Given the description of an element on the screen output the (x, y) to click on. 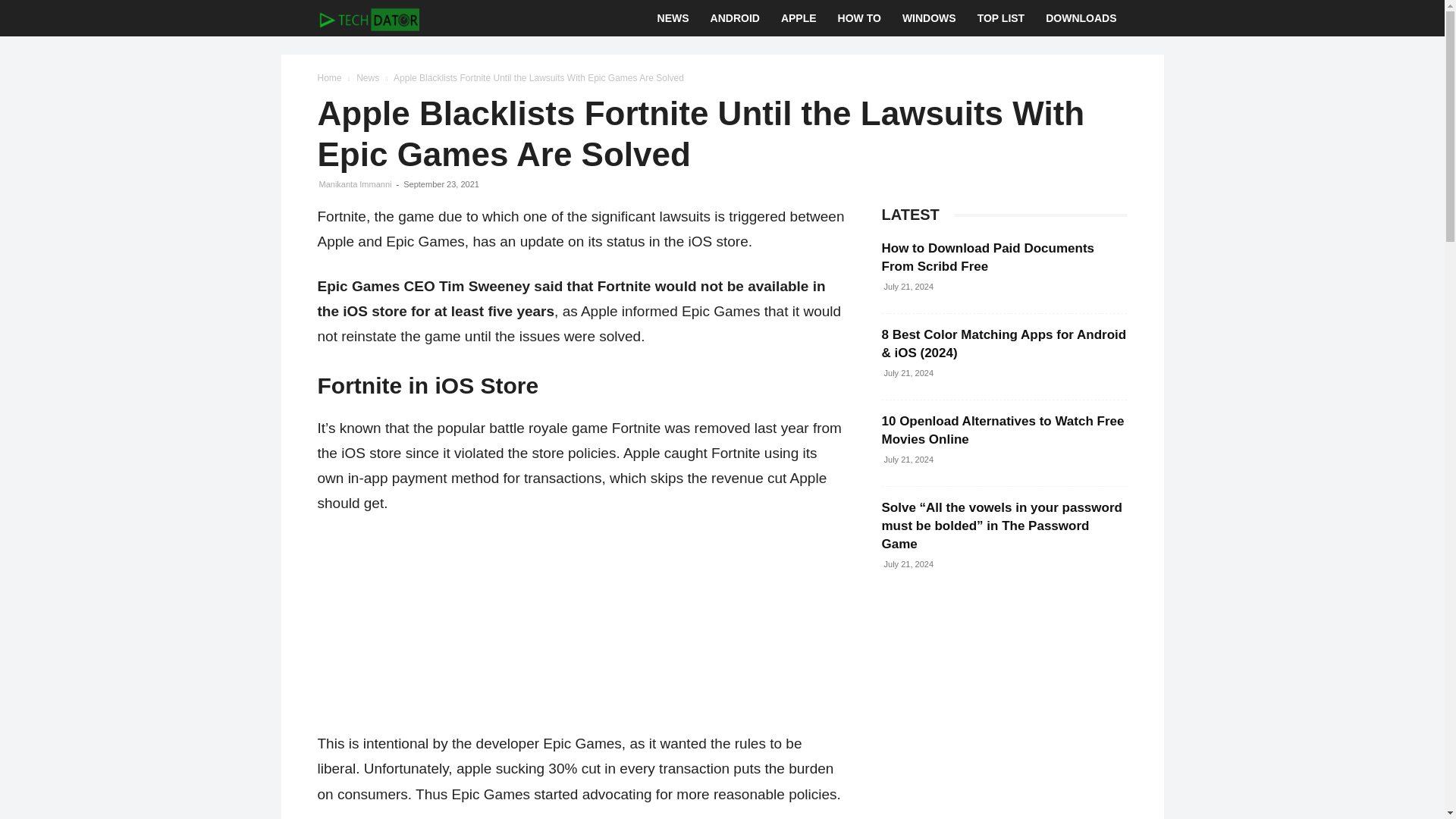
News (367, 77)
WINDOWS (928, 18)
APPLE (798, 18)
ANDROID (735, 18)
HOW TO (859, 18)
TechDator (368, 18)
NEWS (673, 18)
TechDator (368, 18)
Manikanta Immanni (354, 184)
Home (328, 77)
TOP LIST (1000, 18)
View all posts in News (367, 77)
DOWNLOADS (1080, 18)
